Given the description of an element on the screen output the (x, y) to click on. 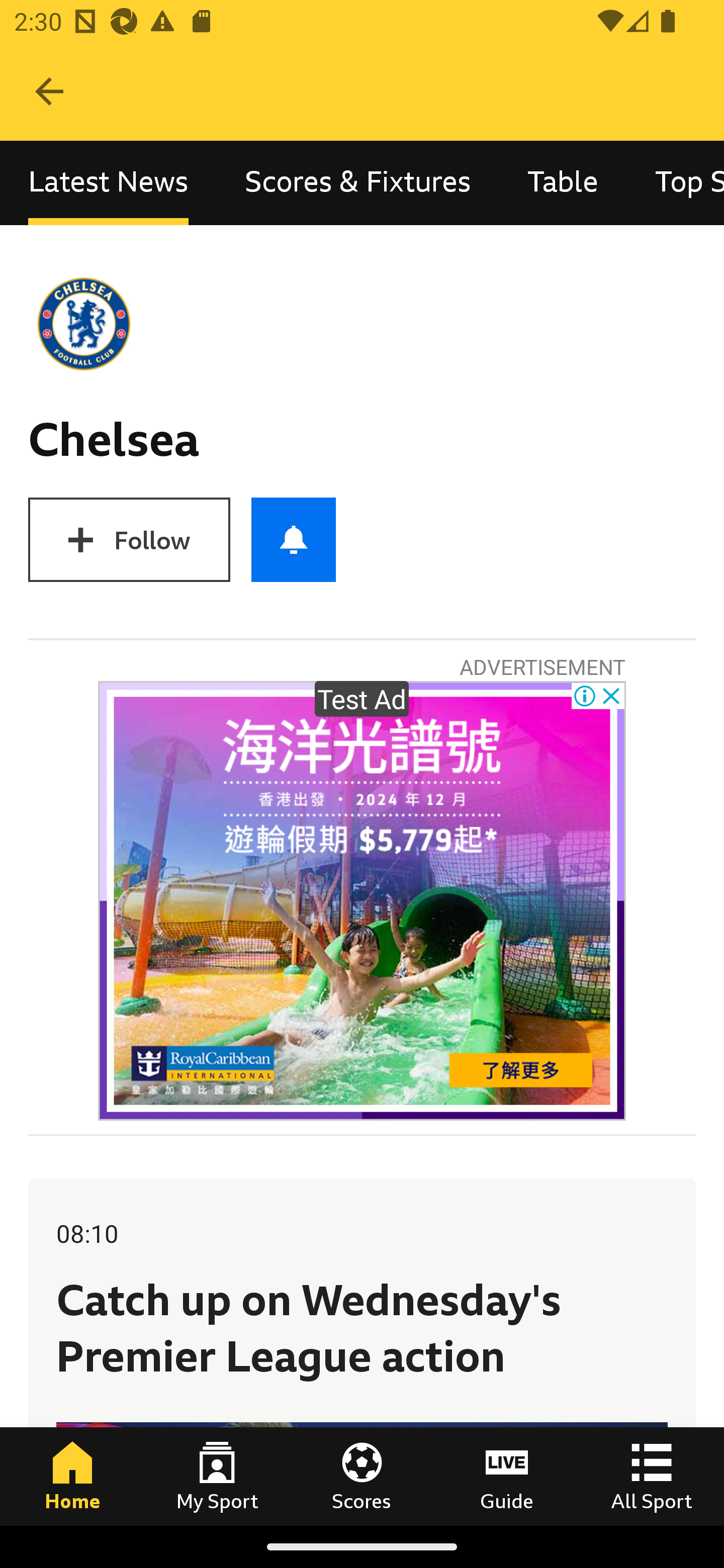
Navigate up (49, 91)
Latest News, selected Latest News (108, 183)
Scores & Fixtures (357, 183)
Table (562, 183)
Follow Chelsea Follow (129, 539)
Push notifications for Chelsea (293, 539)
My Sport (216, 1475)
Scores (361, 1475)
Guide (506, 1475)
All Sport (651, 1475)
